Given the description of an element on the screen output the (x, y) to click on. 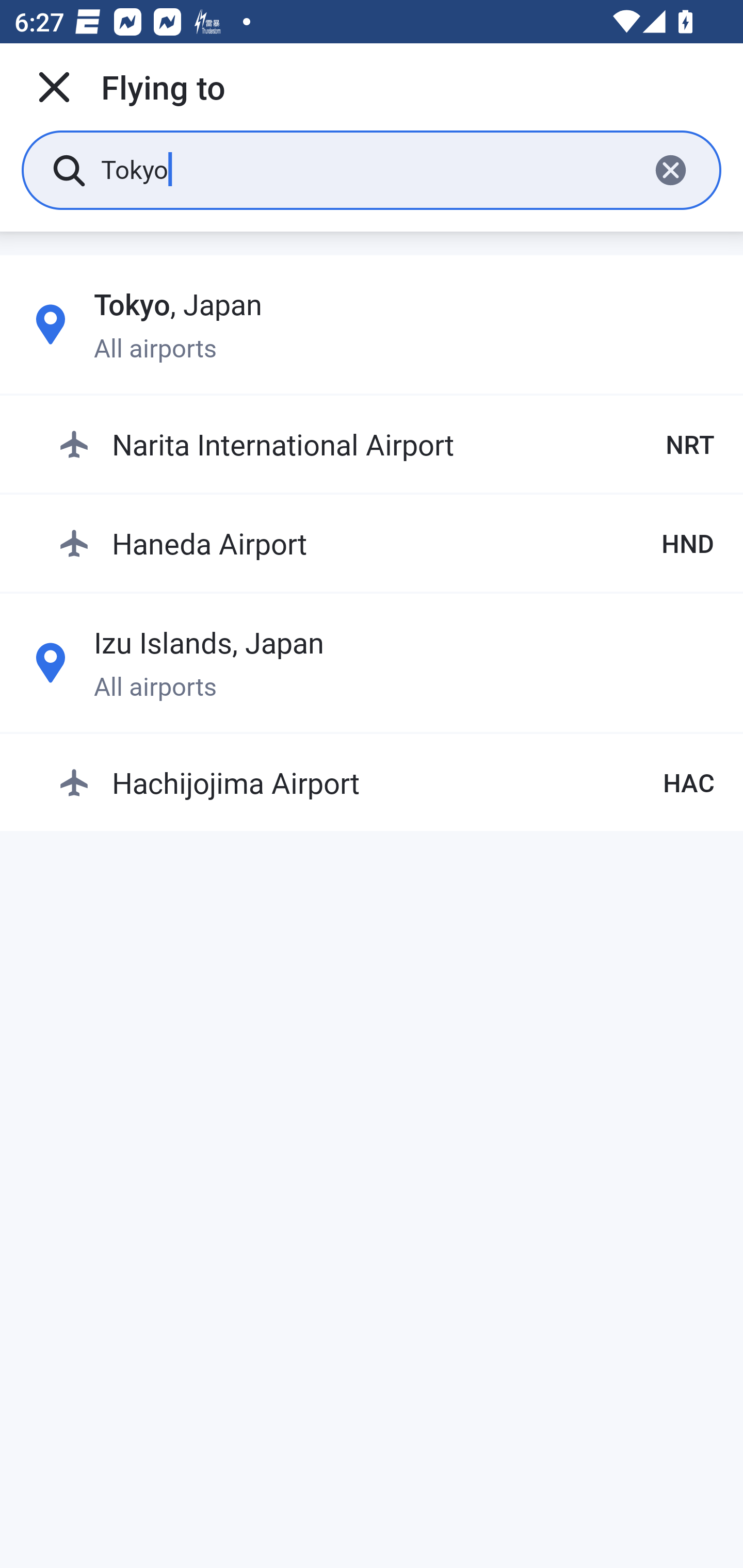
Tokyo (367, 169)
Tokyo, Japan All airports (371, 324)
Narita International Airport NRT (385, 444)
Haneda Airport HND (385, 543)
Izu Islands, Japan All airports (371, 662)
Hachijojima Airport HAC (385, 782)
